Given the description of an element on the screen output the (x, y) to click on. 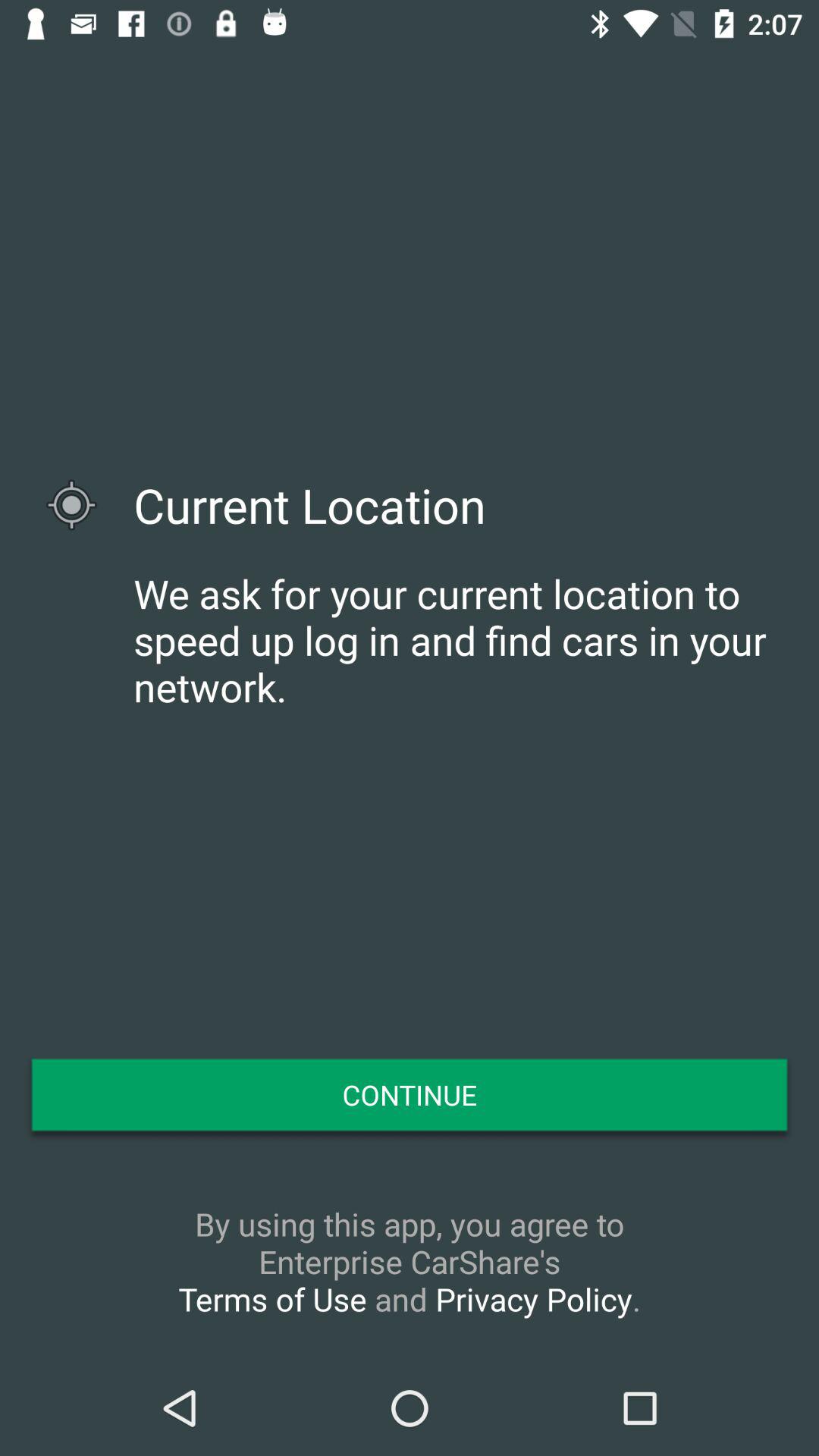
flip until the continue icon (409, 1094)
